Given the description of an element on the screen output the (x, y) to click on. 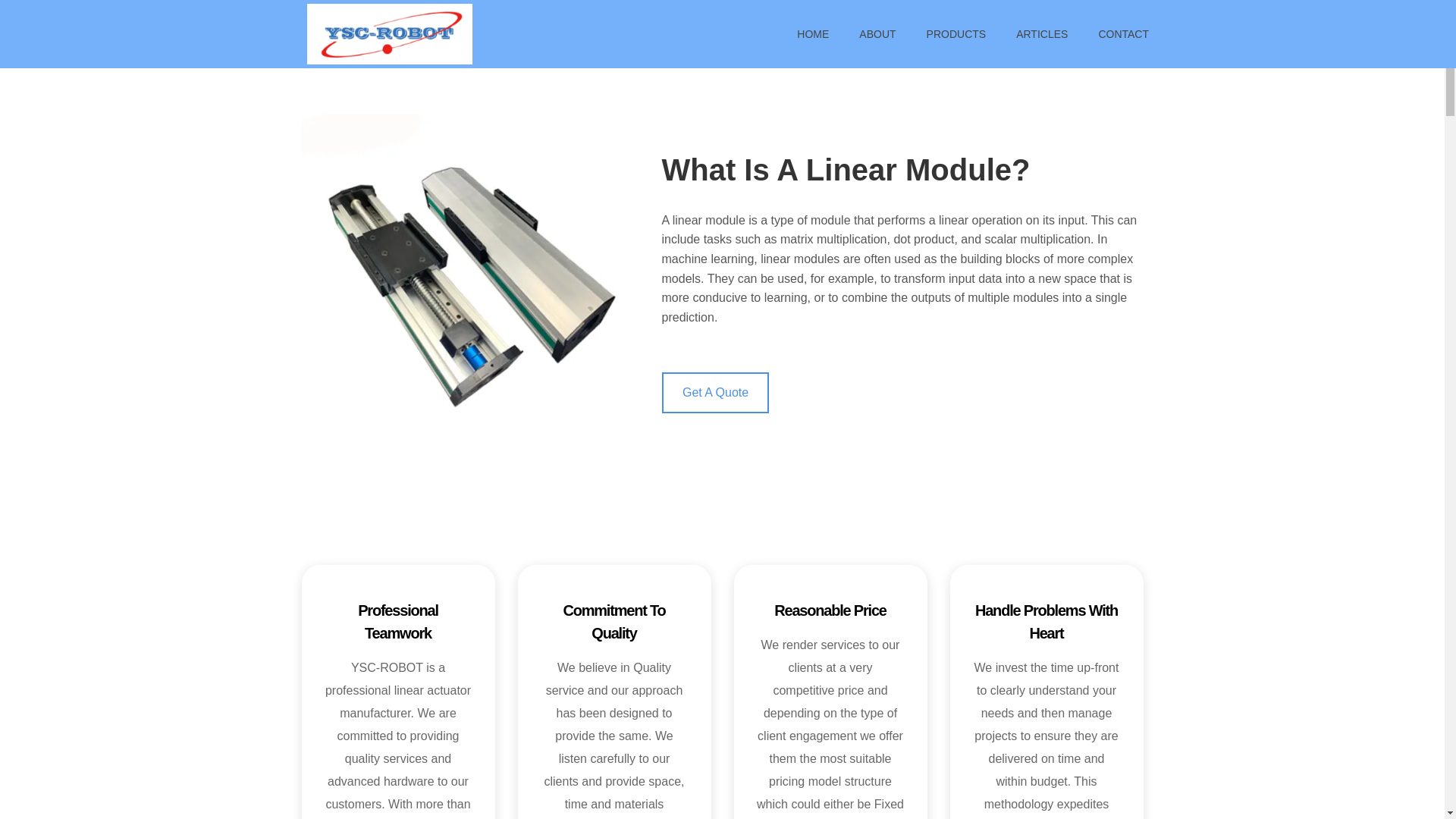
ABOUT (877, 33)
CONTACT (1115, 33)
ARTICLES (1042, 33)
Back To Home (389, 32)
Get A Quote (714, 392)
HOME (812, 33)
PRODUCTS (956, 33)
linear module (708, 219)
Get A Quote (714, 392)
